Given the description of an element on the screen output the (x, y) to click on. 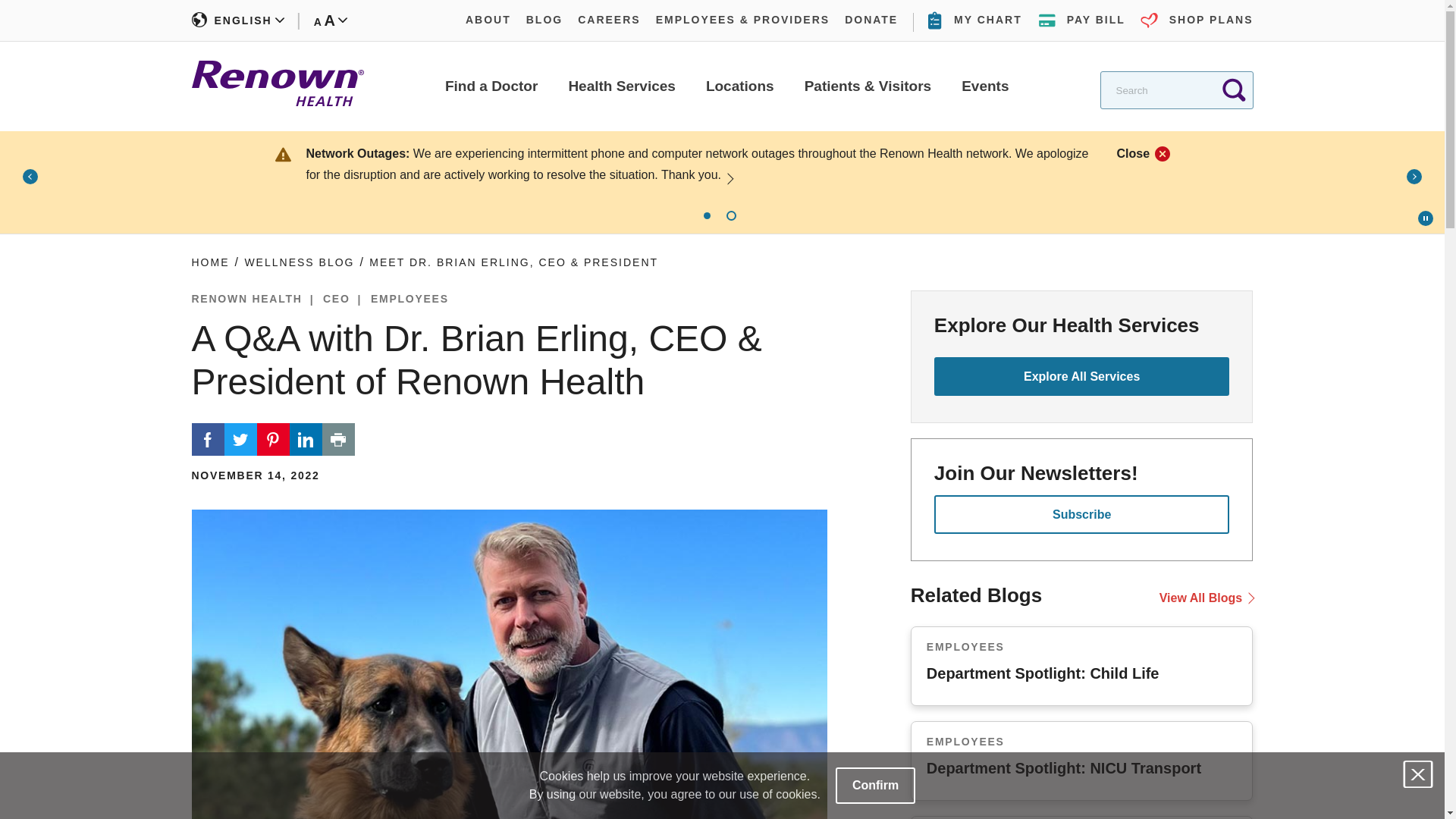
ABOUT (488, 19)
SHOP PLANS (1196, 19)
Find a Doctor (491, 85)
MY CHART (975, 19)
PAY BILL (1080, 19)
ENGLISH (236, 20)
Blog (1175, 85)
Health Services (298, 262)
Events (621, 85)
Home (984, 85)
DONATE (209, 262)
Back to Renown Homepage (871, 19)
Meet Dr Brian Erling (276, 86)
CAREERS (513, 262)
